Given the description of an element on the screen output the (x, y) to click on. 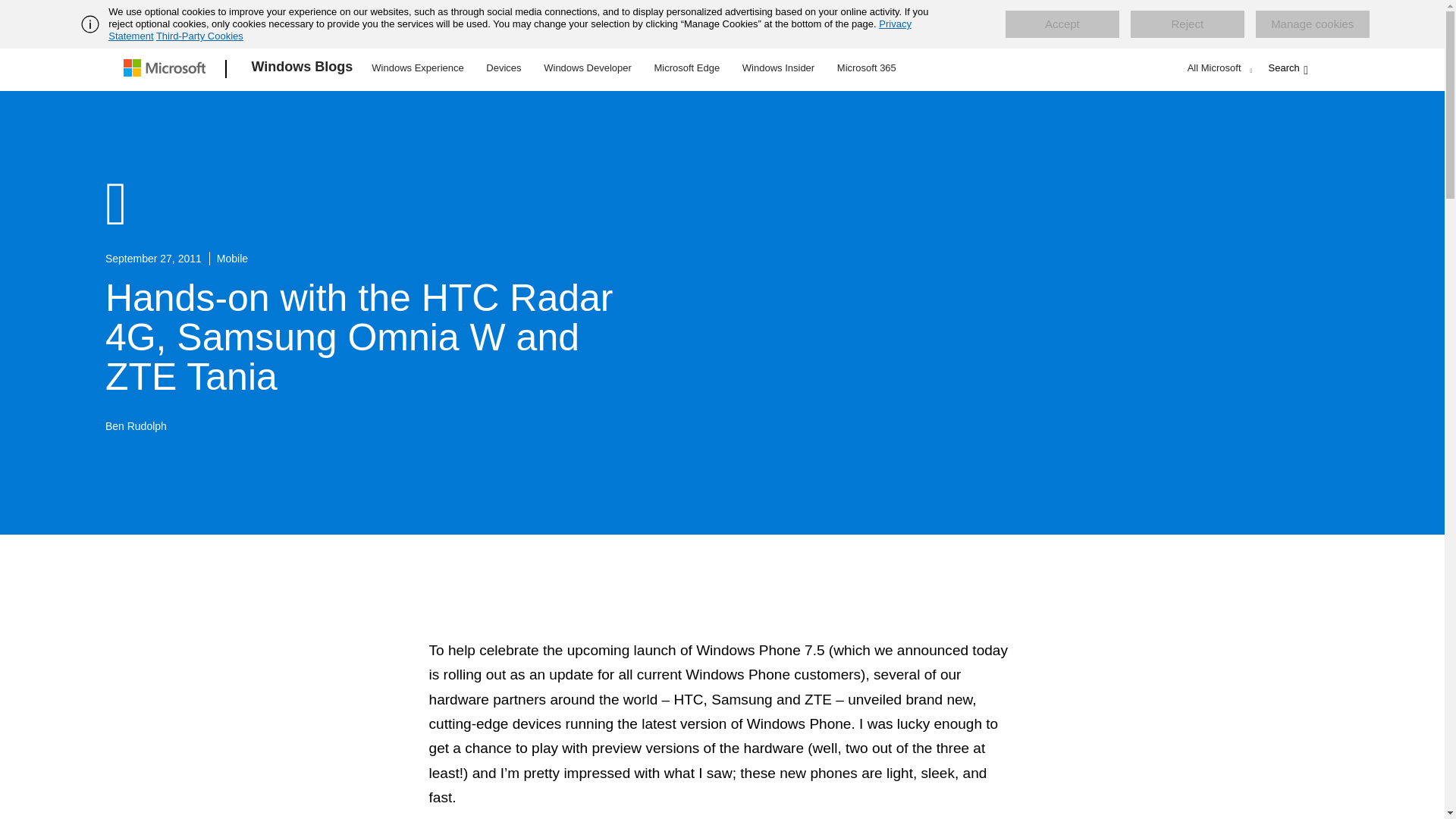
Microsoft 365 (865, 67)
Devices (503, 67)
Manage cookies (1312, 23)
Reject (1187, 23)
Microsoft (167, 69)
Third-Party Cookies (199, 35)
Windows Experience (417, 67)
Windows Blogs (302, 69)
Privacy Statement (509, 29)
Windows Developer (588, 67)
Windows Insider (778, 67)
Accept (1062, 23)
Microsoft Edge (686, 67)
All Microsoft (1217, 67)
